Given the description of an element on the screen output the (x, y) to click on. 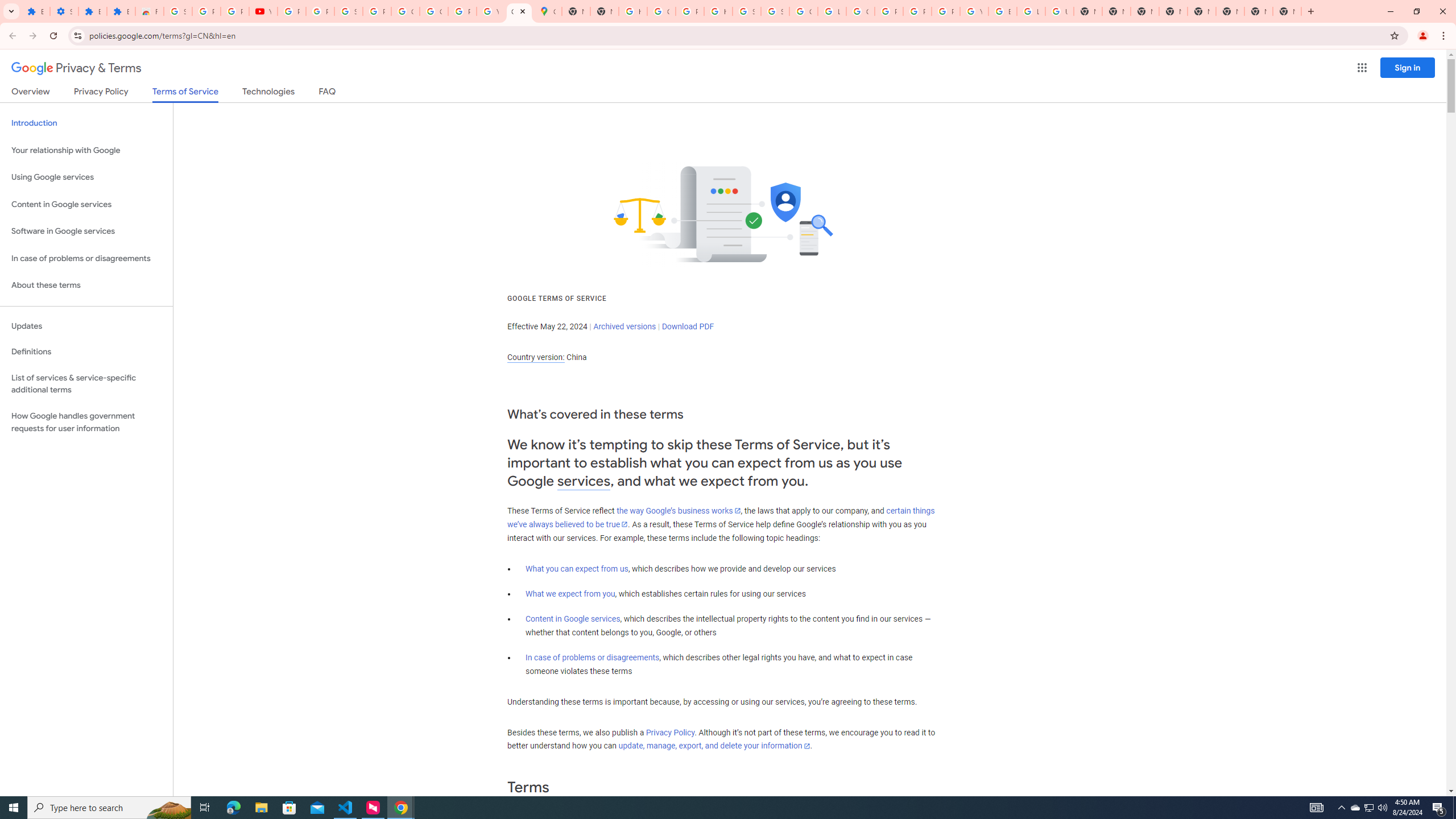
New Tab (1230, 11)
Sign in - Google Accounts (774, 11)
Extensions (92, 11)
